Given the description of an element on the screen output the (x, y) to click on. 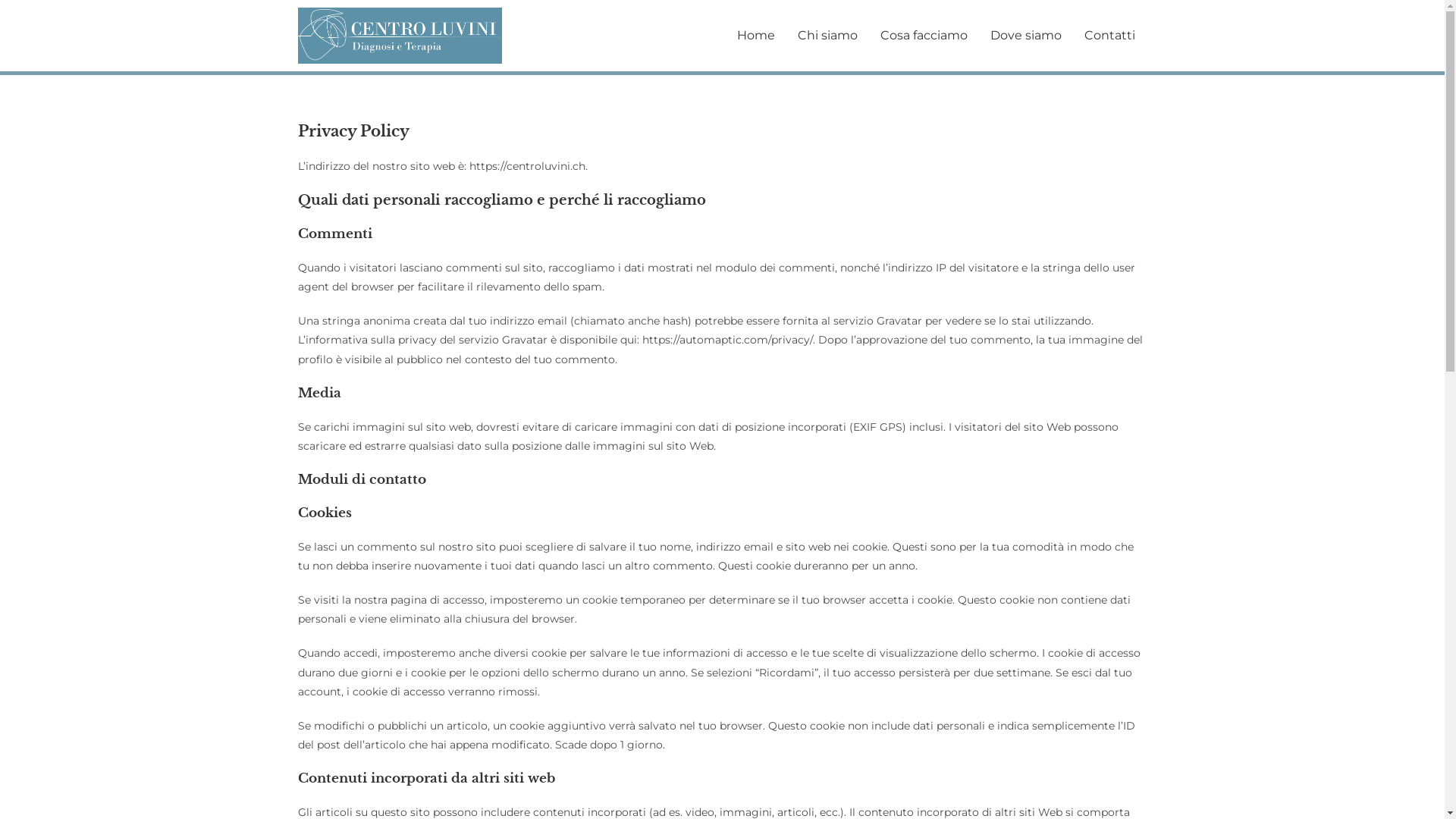
Home Element type: text (755, 35)
Chi siamo Element type: text (827, 35)
Cosa facciamo Element type: text (924, 35)
Dove siamo Element type: text (1026, 35)
Contatti Element type: text (1109, 35)
